Given the description of an element on the screen output the (x, y) to click on. 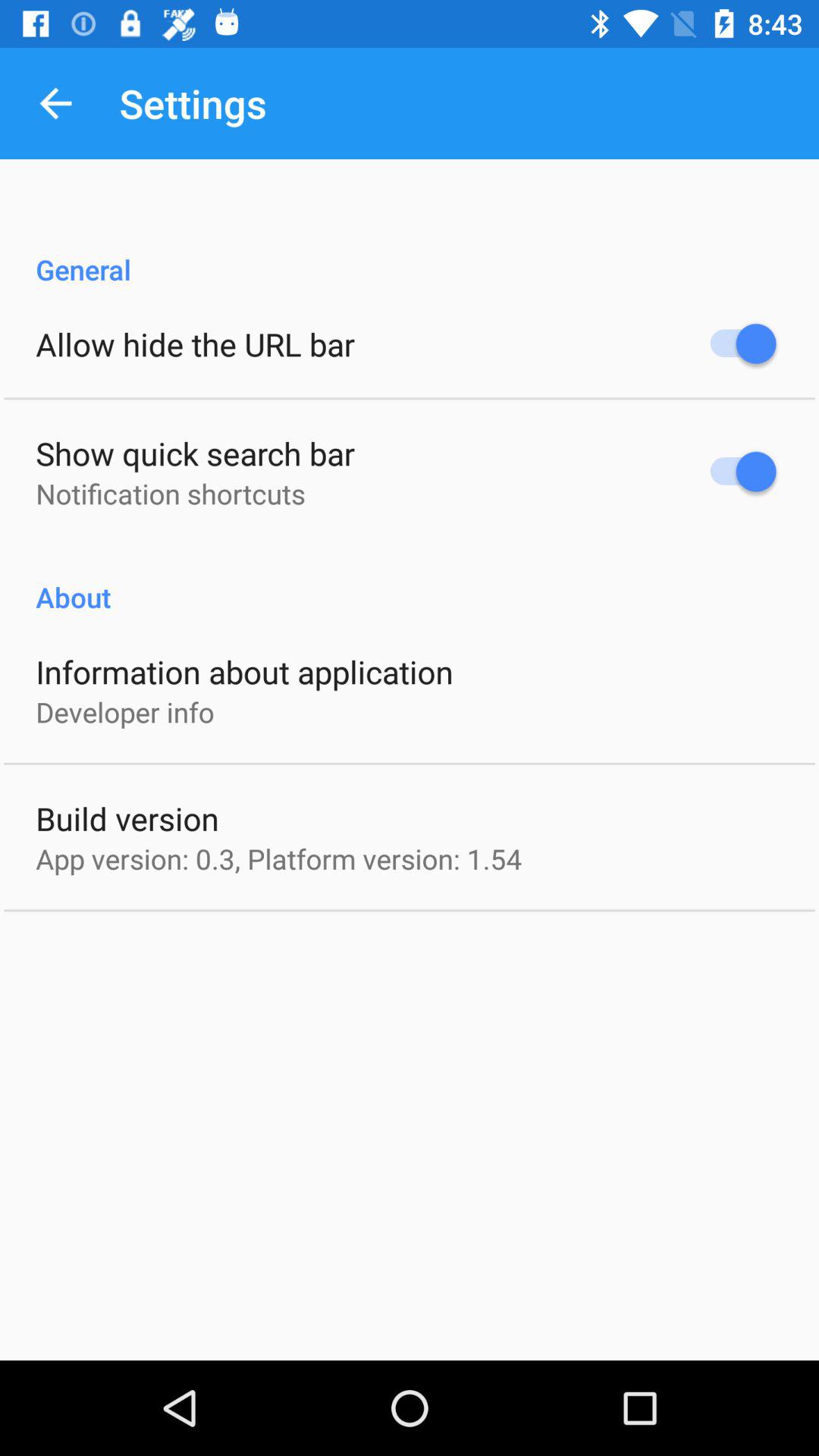
scroll to information about application (244, 671)
